Given the description of an element on the screen output the (x, y) to click on. 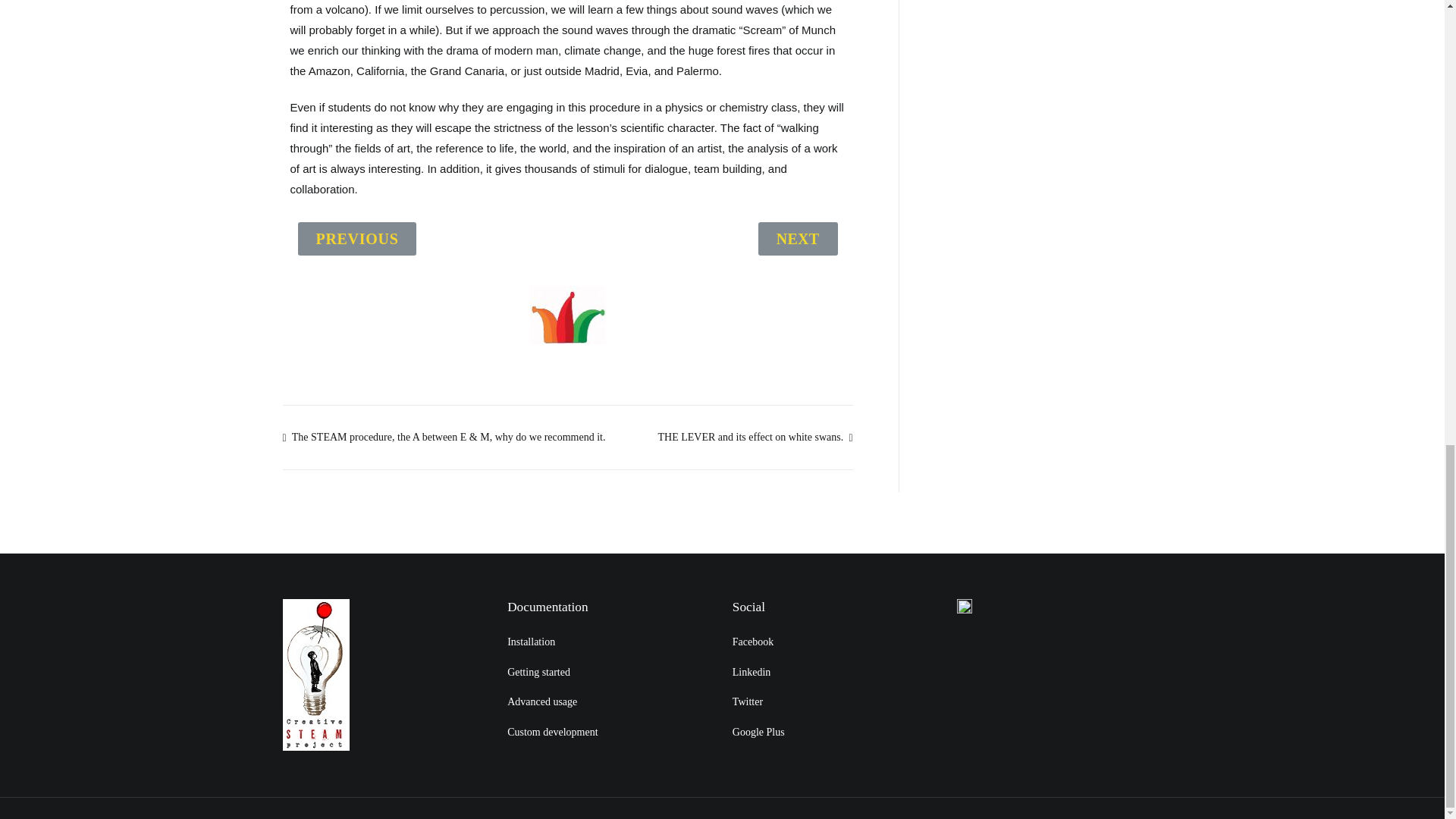
PREVIOUS (356, 238)
screen-shot-2016-06-10-at-14.05.23- (567, 314)
